Given the description of an element on the screen output the (x, y) to click on. 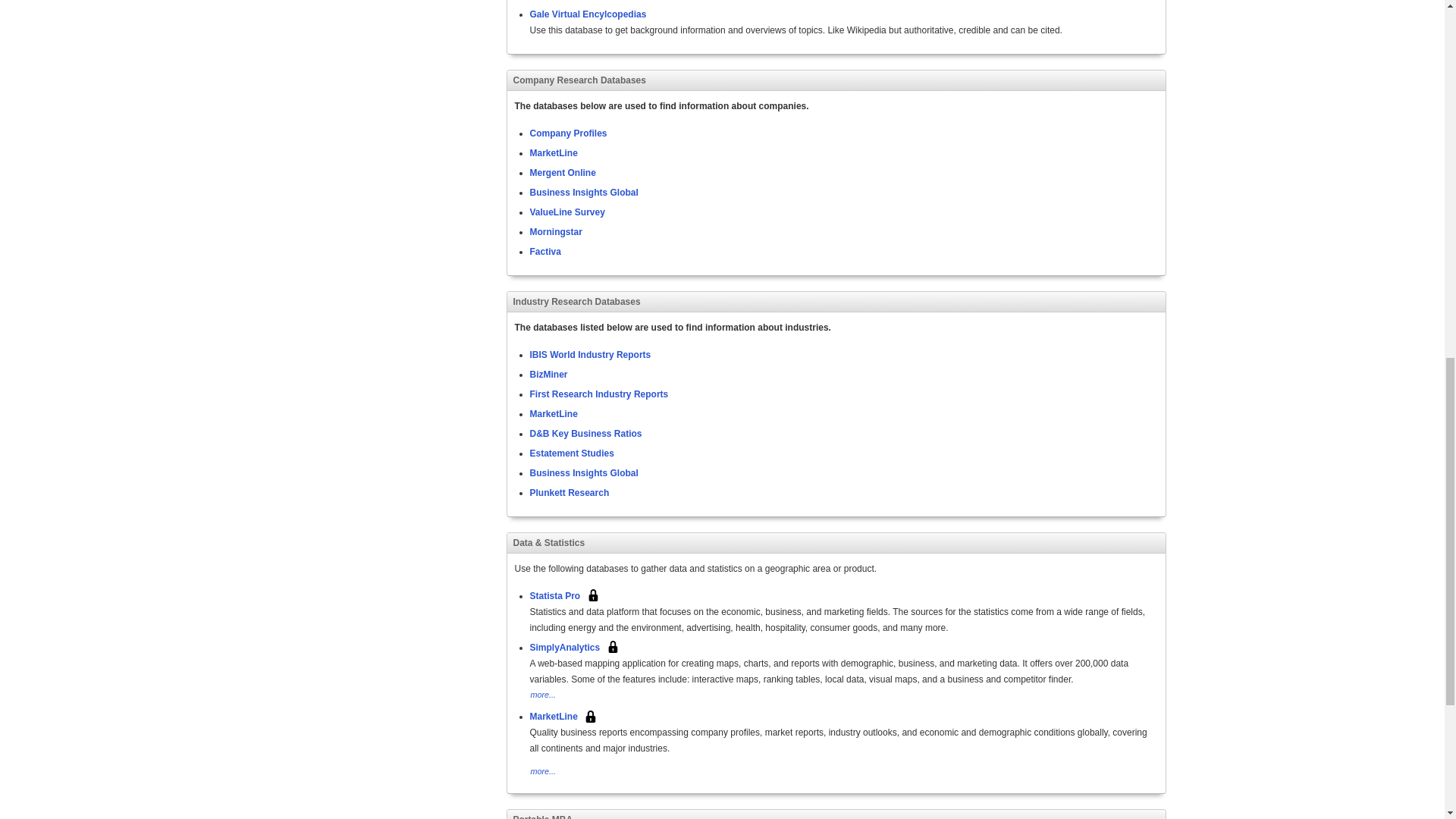
MarketLine (552, 412)
Company Profiles (568, 132)
Morningstar (554, 231)
Estatement Studies (570, 452)
Factiva (544, 250)
MarketLine (552, 152)
Mergent Online (562, 172)
Statista Pro (554, 594)
more... (542, 694)
SimplyAnalytics (564, 646)
ValueLine Survey (566, 211)
Business Insights Global (583, 191)
IBIS World Industry Reports (589, 353)
BizMiner (548, 373)
Gale Virtual Encylcopedias (587, 14)
